Given the description of an element on the screen output the (x, y) to click on. 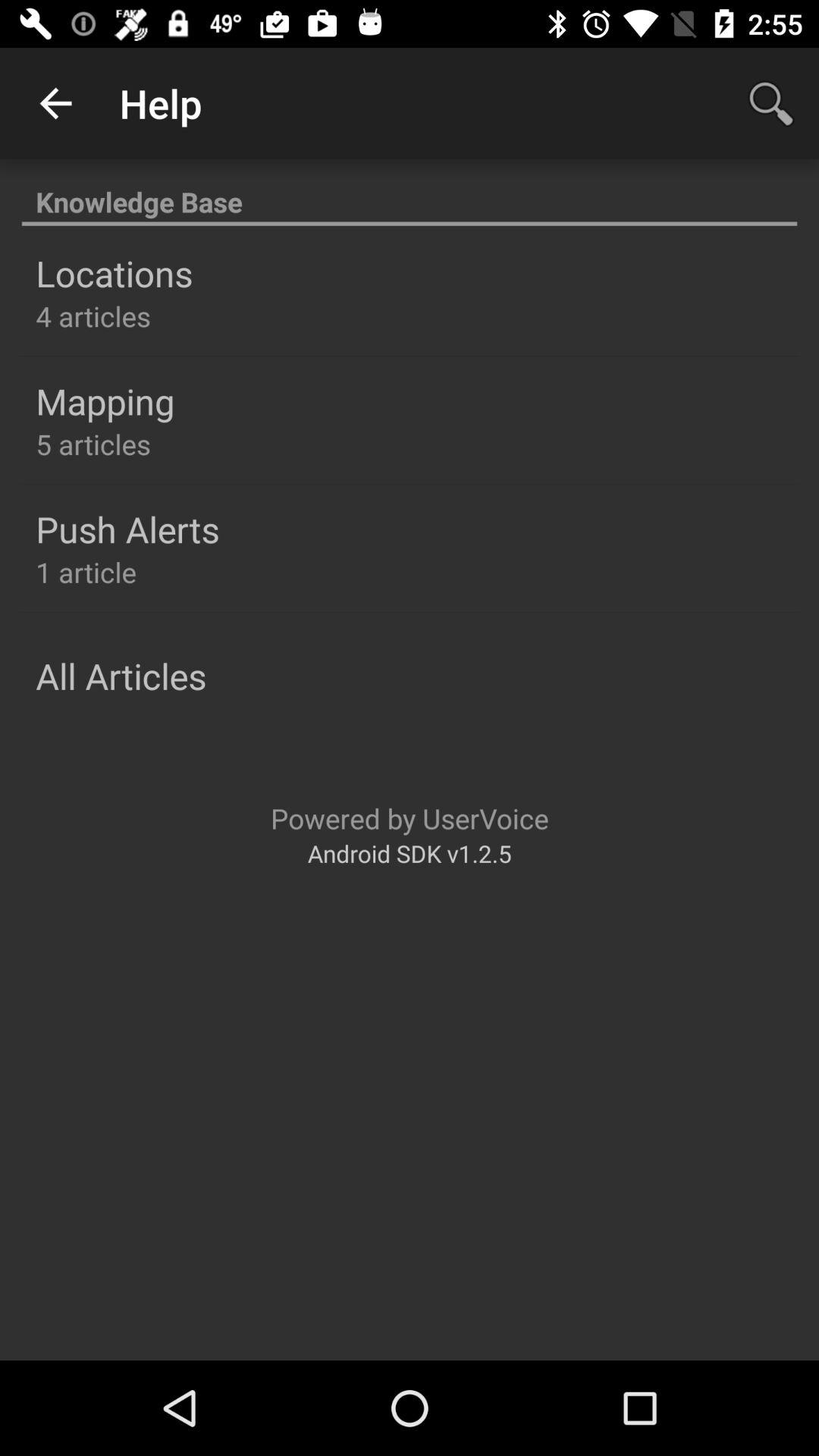
swipe until the all articles (120, 675)
